Given the description of an element on the screen output the (x, y) to click on. 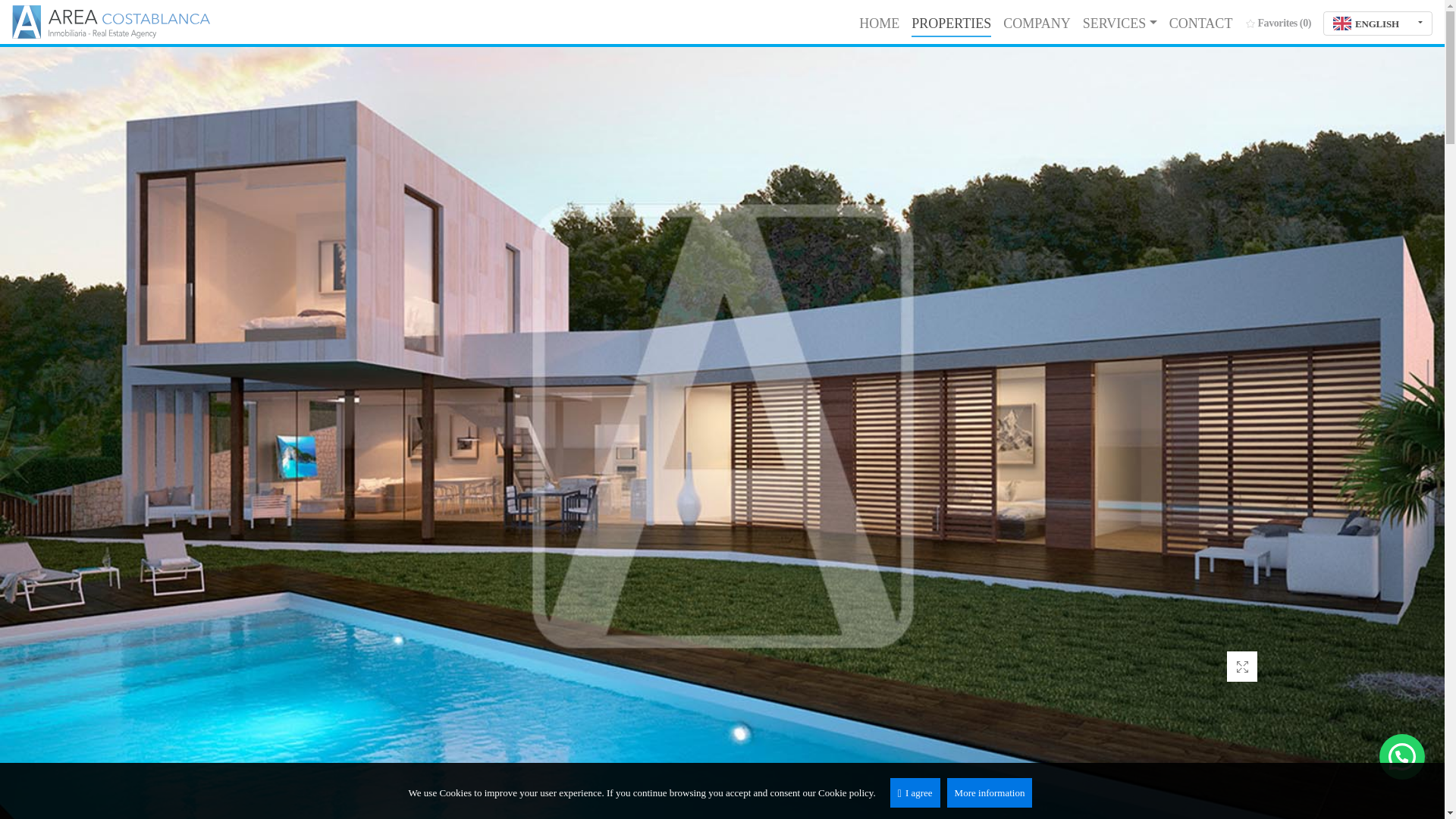
CONTACT (1201, 23)
PROPERTIES (951, 23)
SERVICES (1120, 23)
HOME (879, 23)
COMPANY (1036, 23)
ENGLISH (1377, 23)
